Given the description of an element on the screen output the (x, y) to click on. 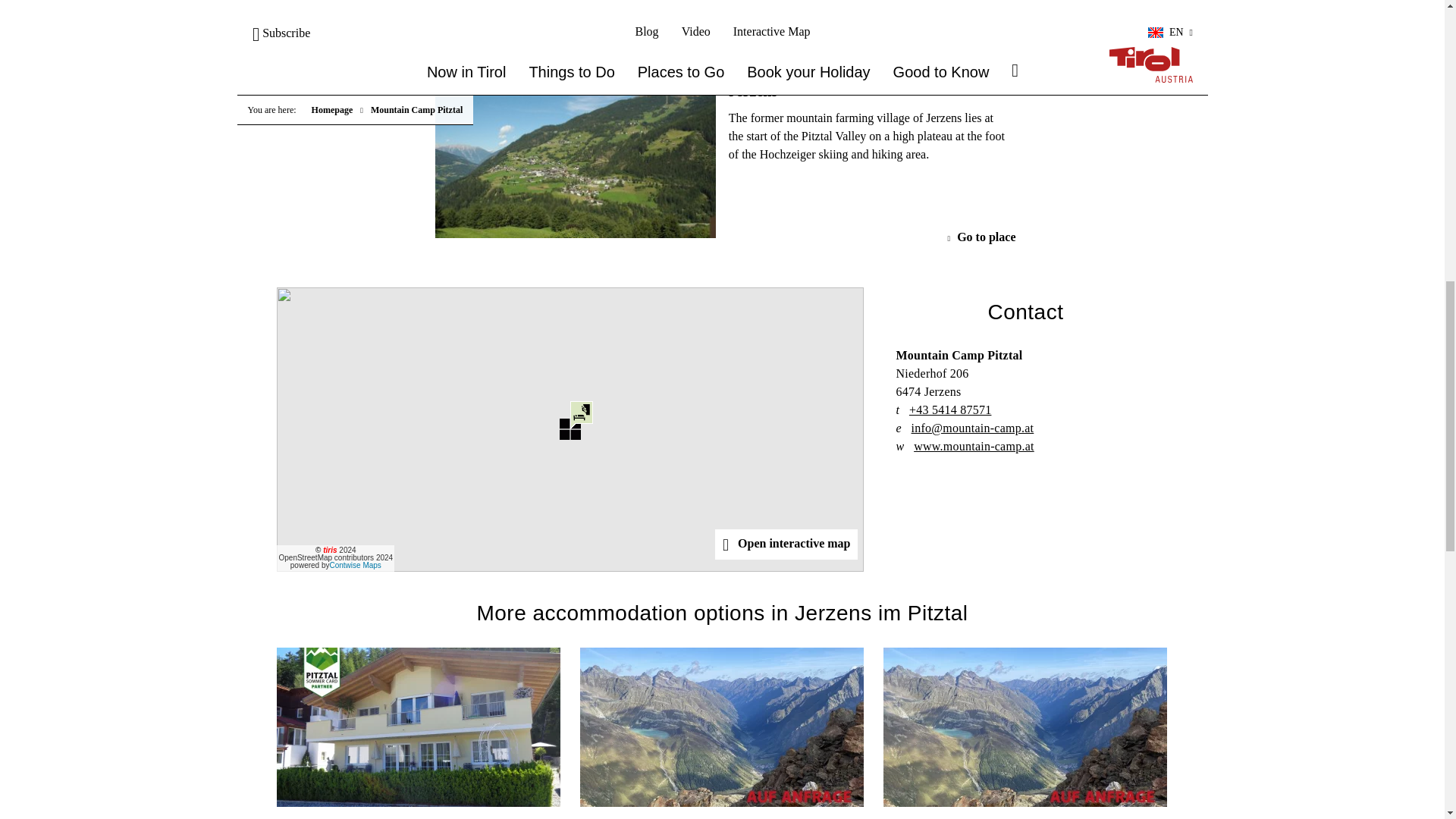
auf Anfrage Buchbar Sommer (721, 726)
Sommercard (418, 726)
